Given the description of an element on the screen output the (x, y) to click on. 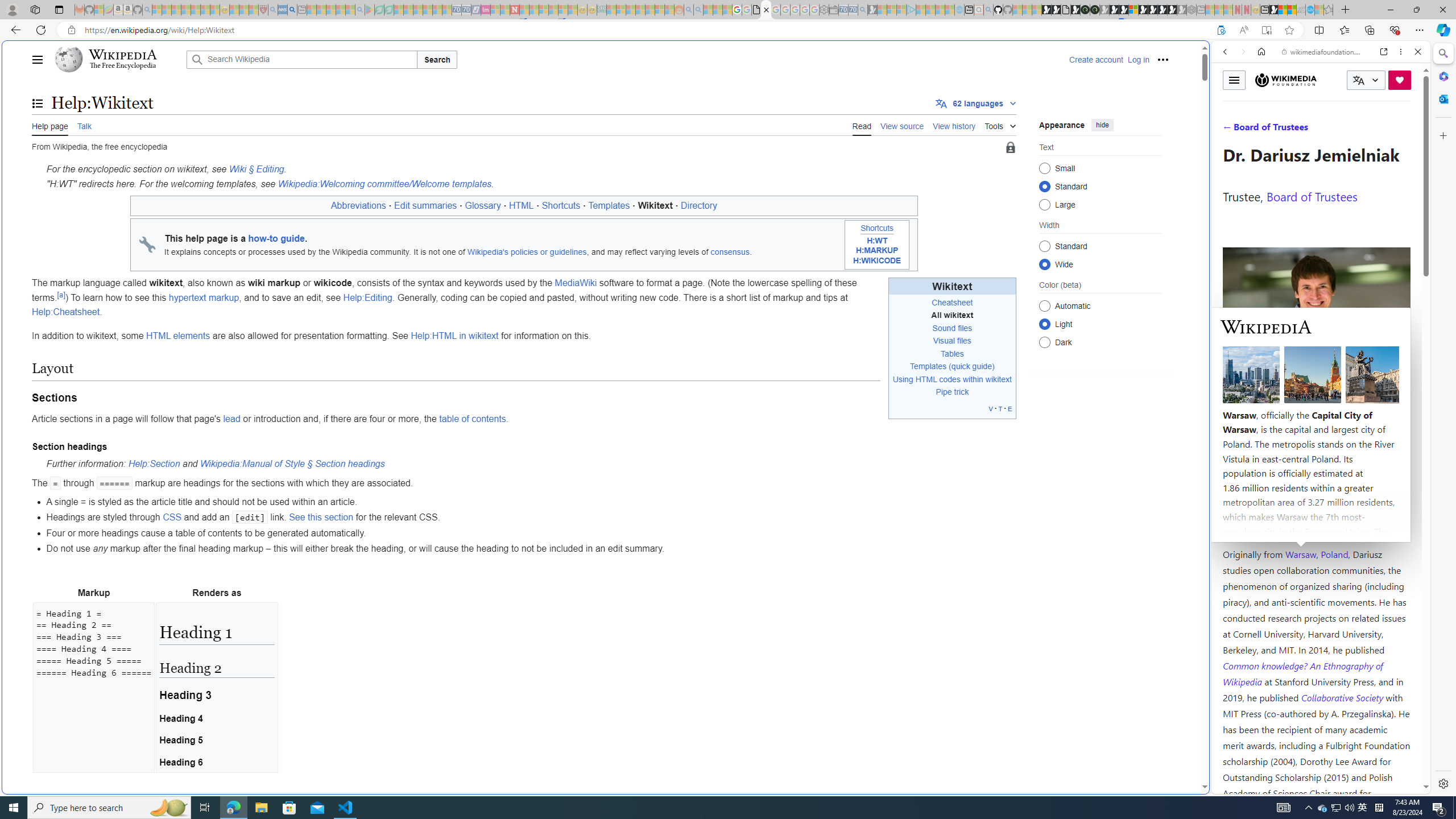
MSNBC - MSN - Sleeping (611, 9)
Automatic (1044, 305)
Sound files (951, 327)
Play Cave FRVR in your browser | Games from Microsoft Start (922, 242)
More options (1401, 51)
Tables (951, 353)
See this section (320, 517)
Address and search bar (647, 29)
Directory (699, 205)
